Given the description of an element on the screen output the (x, y) to click on. 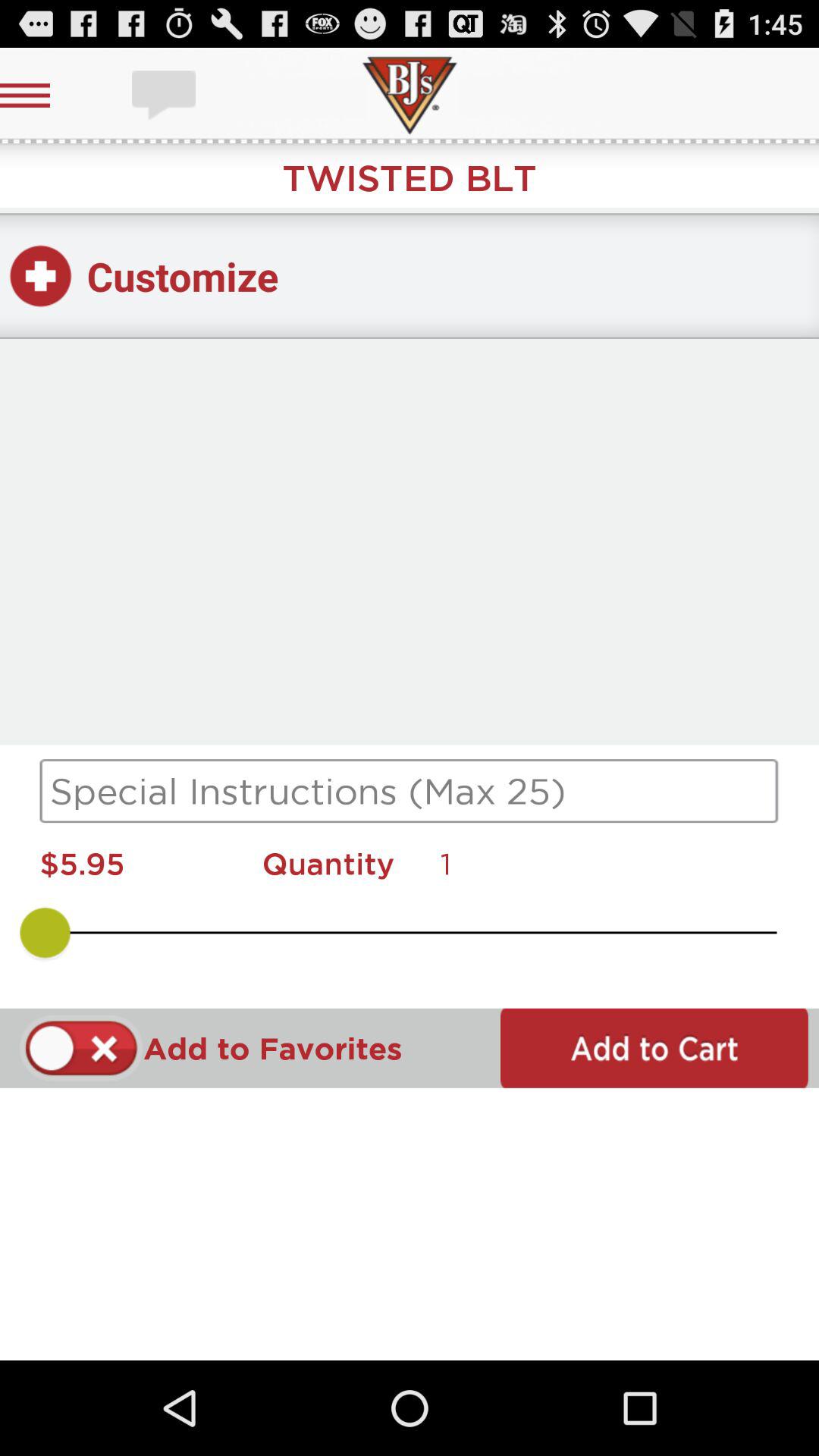
add instructions (409, 790)
